Given the description of an element on the screen output the (x, y) to click on. 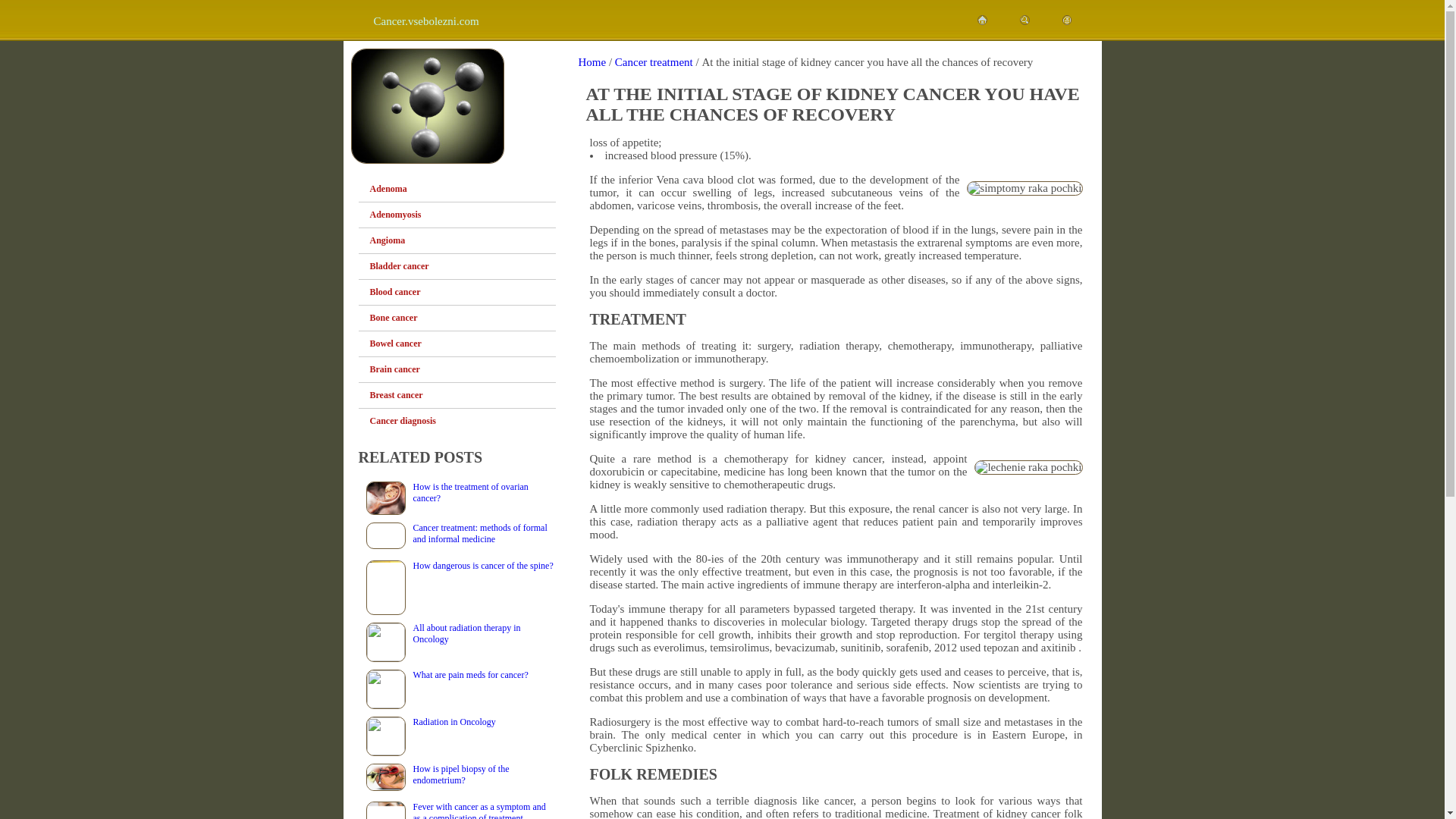
How is the treatment of ovarian cancer? (456, 492)
Adenomyosis (462, 214)
Breast cancer (462, 395)
simptomy raka pochki (1023, 187)
Blood cancer (462, 292)
Cancer.vsebolezni.com (425, 21)
Angioma (462, 240)
Home (591, 61)
lechenie raka pochki (1027, 467)
Cancer treatment: methods of formal and informal medicine (456, 533)
